Given the description of an element on the screen output the (x, y) to click on. 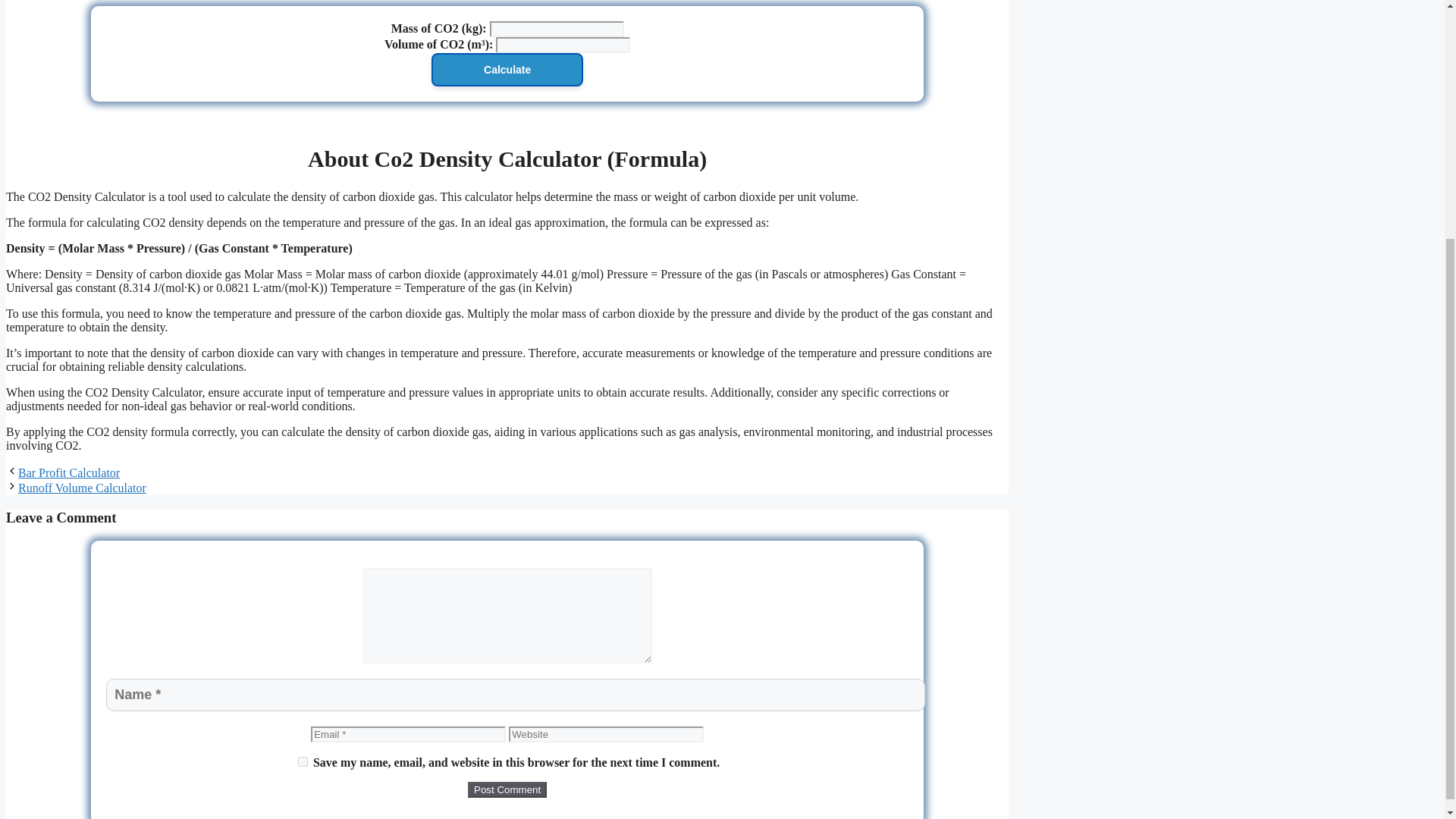
Post Comment (507, 789)
Post Comment (507, 789)
yes (302, 761)
Calculate (506, 69)
Bar Profit Calculator (68, 472)
Runoff Volume Calculator (82, 487)
